Given the description of an element on the screen output the (x, y) to click on. 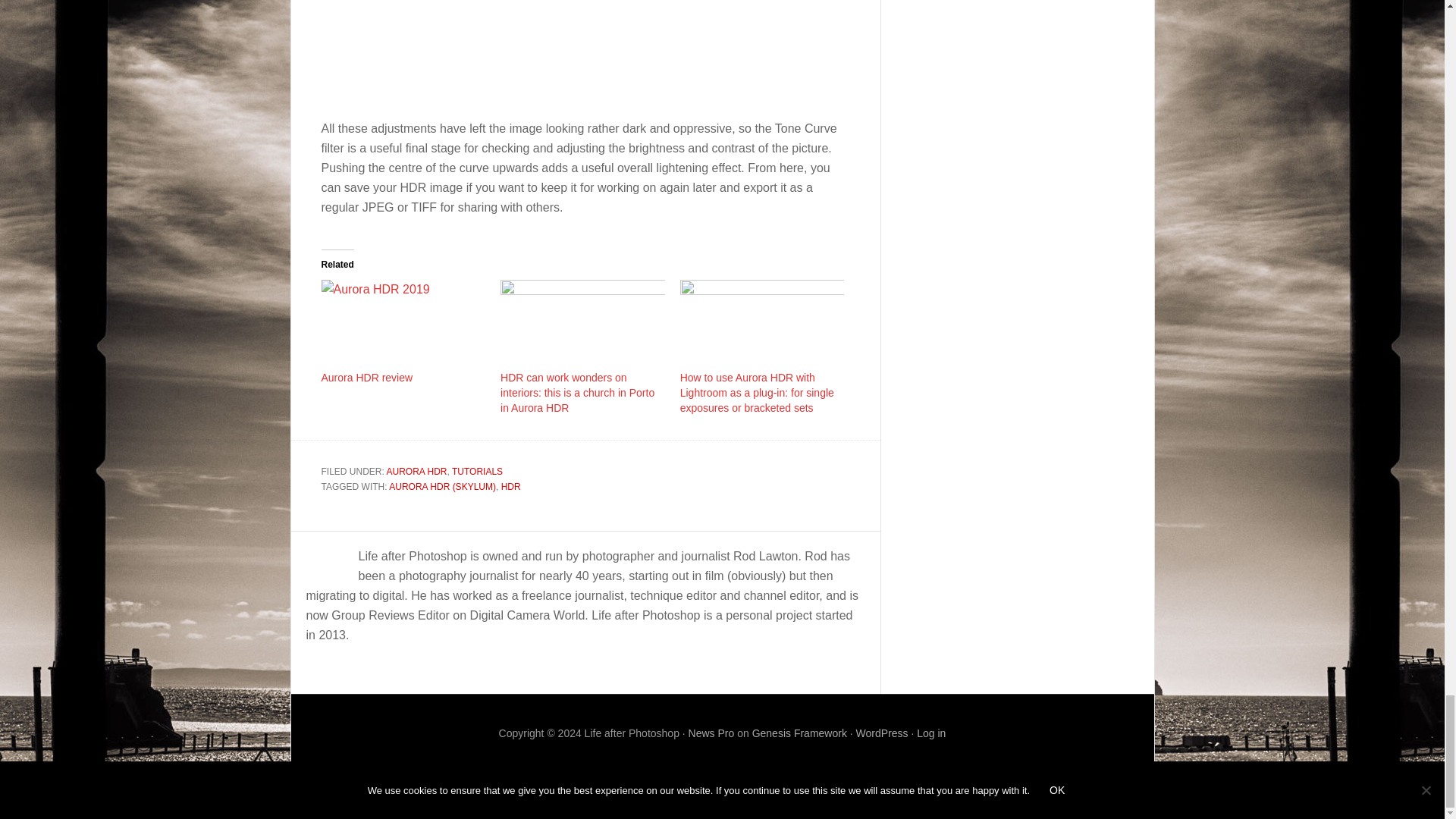
Aurora HDR review (403, 326)
Aurora HDR review (367, 377)
